Given the description of an element on the screen output the (x, y) to click on. 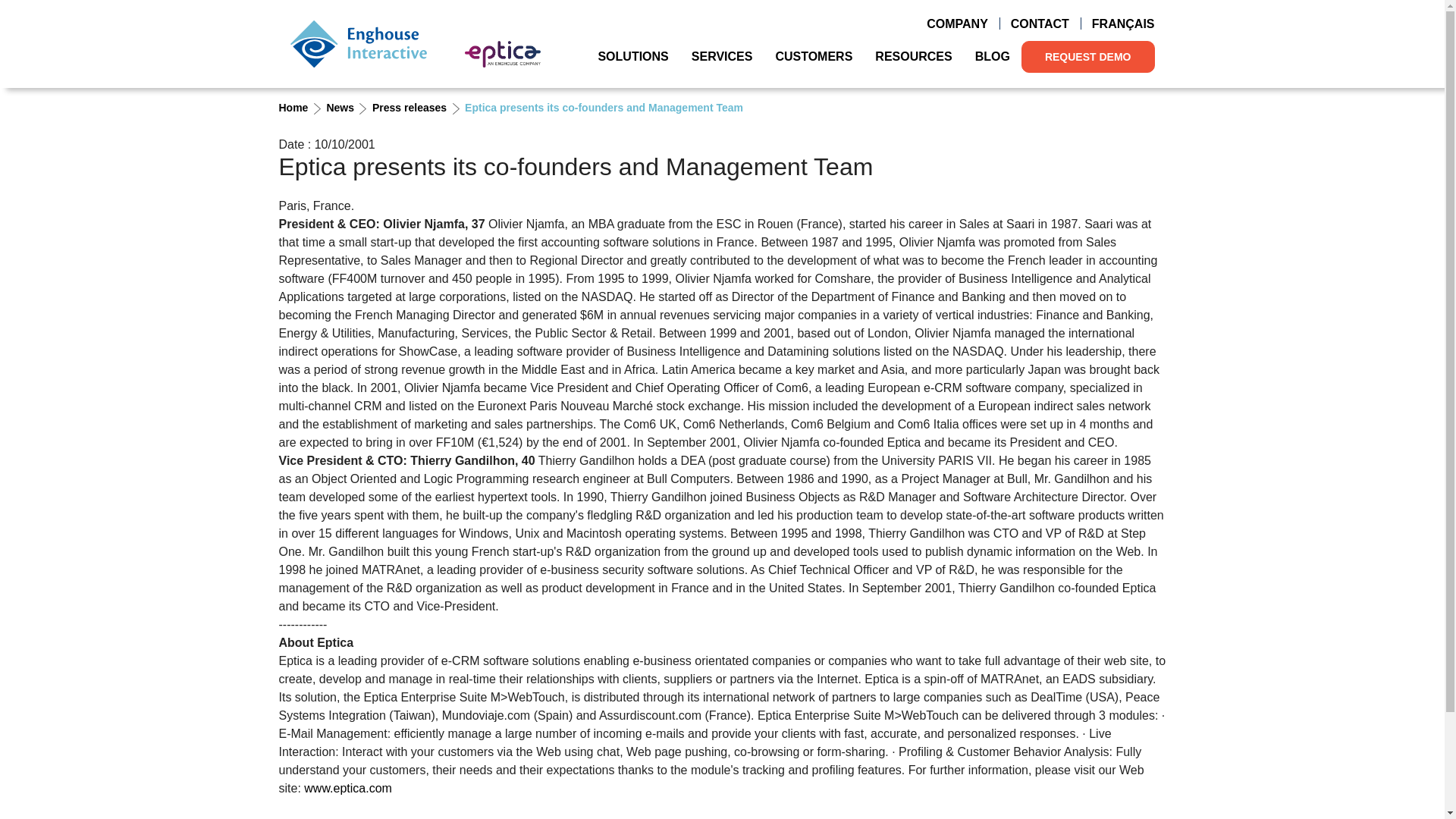
Home (357, 43)
SERVICES (721, 56)
CONTACT (1039, 24)
RESOURCES (913, 56)
CUSTOMERS (812, 56)
SOLUTIONS (632, 56)
COMPANY (956, 24)
